Given the description of an element on the screen output the (x, y) to click on. 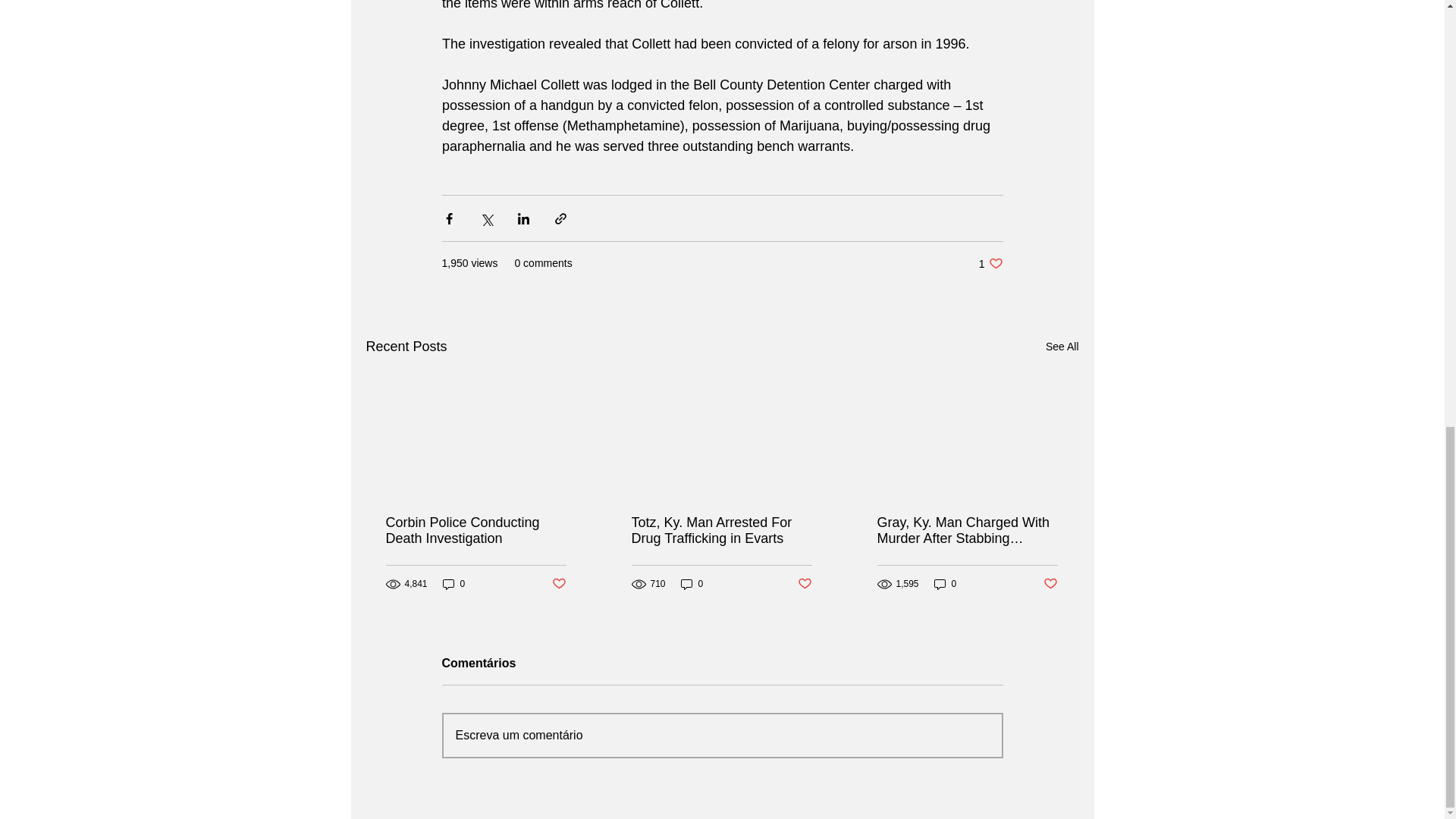
See All (1061, 346)
Corbin Police Conducting Death Investigation (990, 263)
